Given the description of an element on the screen output the (x, y) to click on. 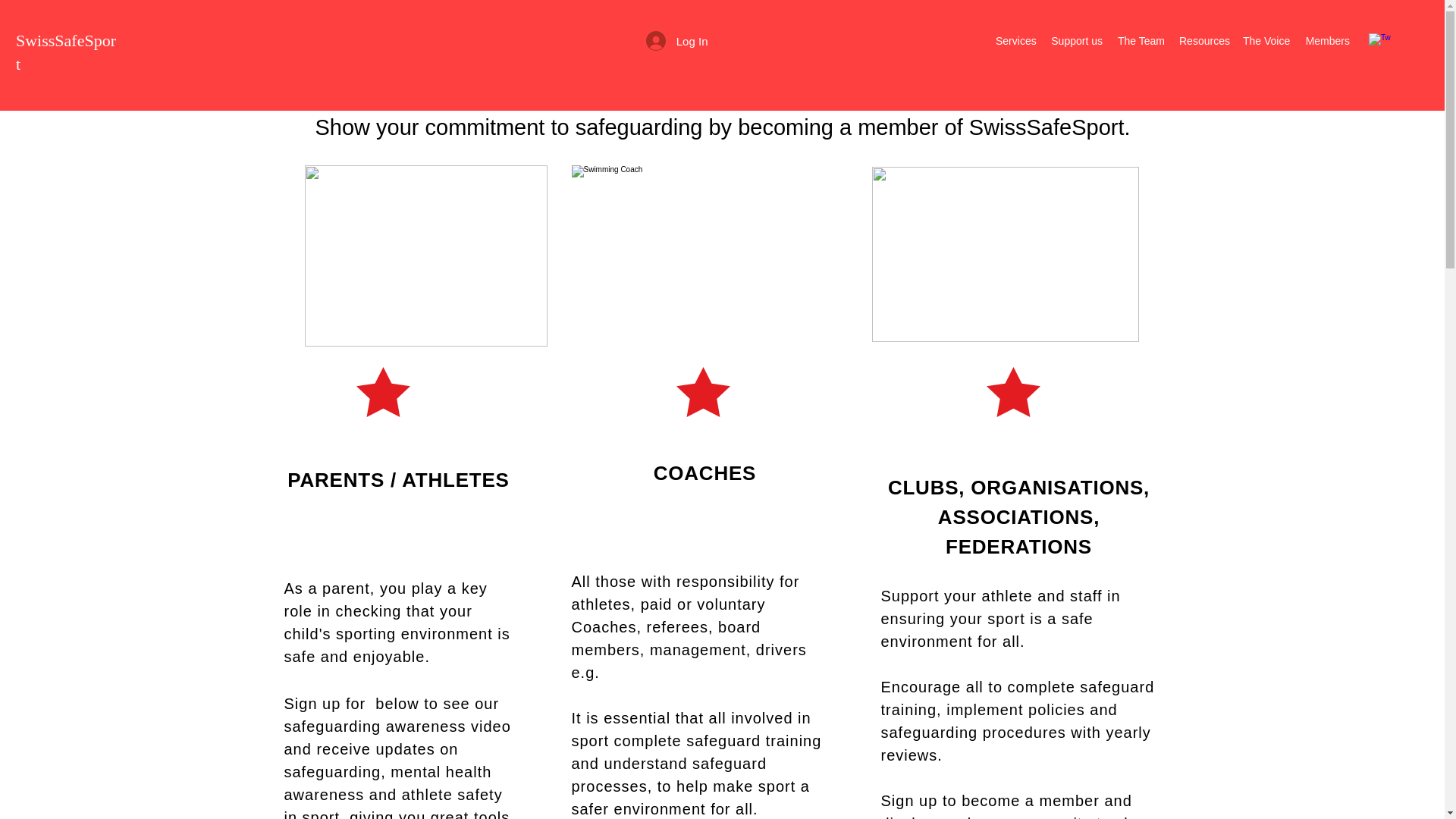
Basketball Match (1005, 254)
The Voice (1265, 40)
Services (1015, 40)
Log In (676, 40)
The Team (1140, 40)
Members (1326, 40)
Support us (1075, 40)
Young Gymnast    (425, 255)
SwissSafeSport (66, 52)
Resources (1203, 40)
